Given the description of an element on the screen output the (x, y) to click on. 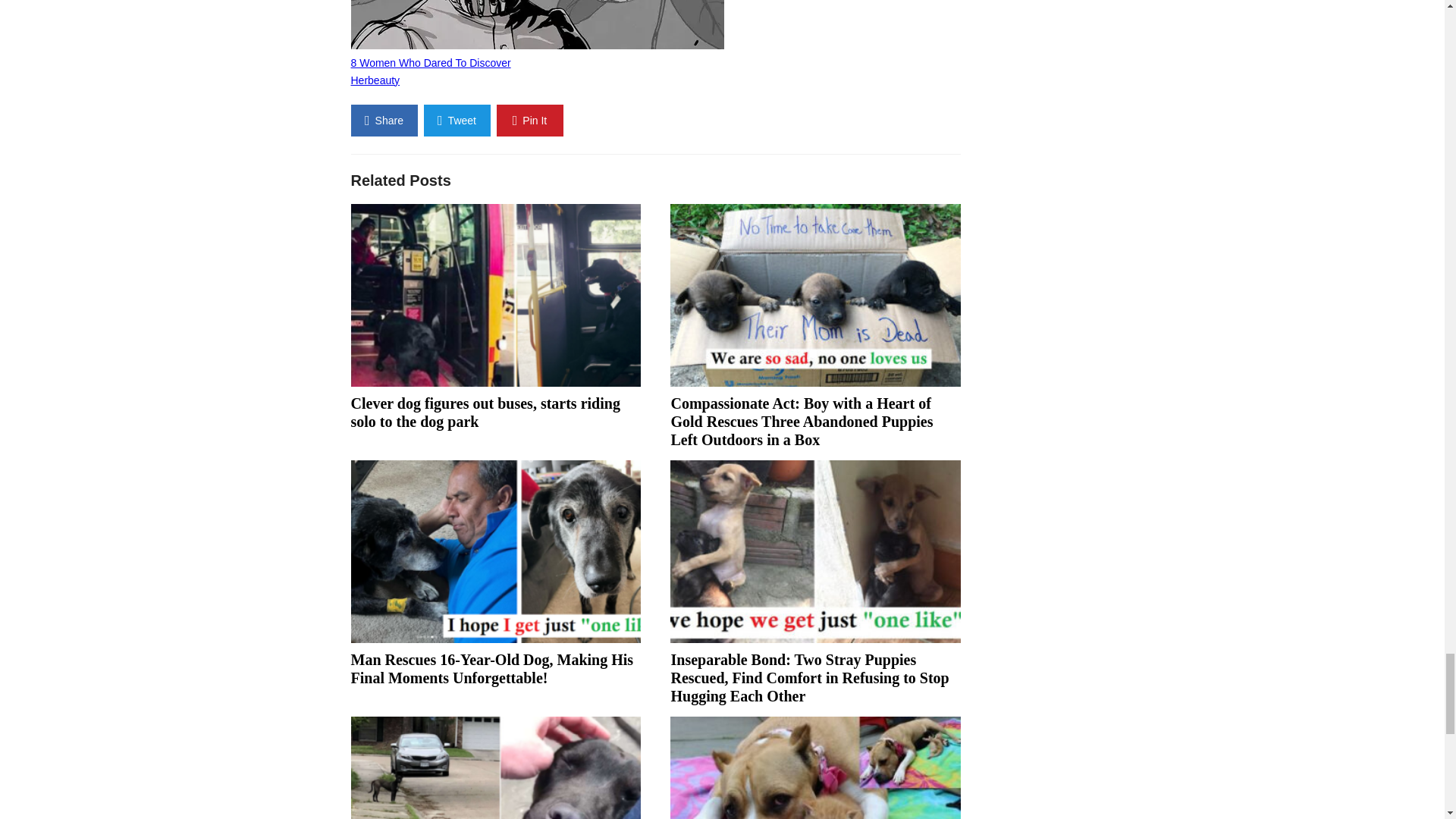
Tweet (456, 120)
Pin It (529, 120)
Share (383, 120)
